Given the description of an element on the screen output the (x, y) to click on. 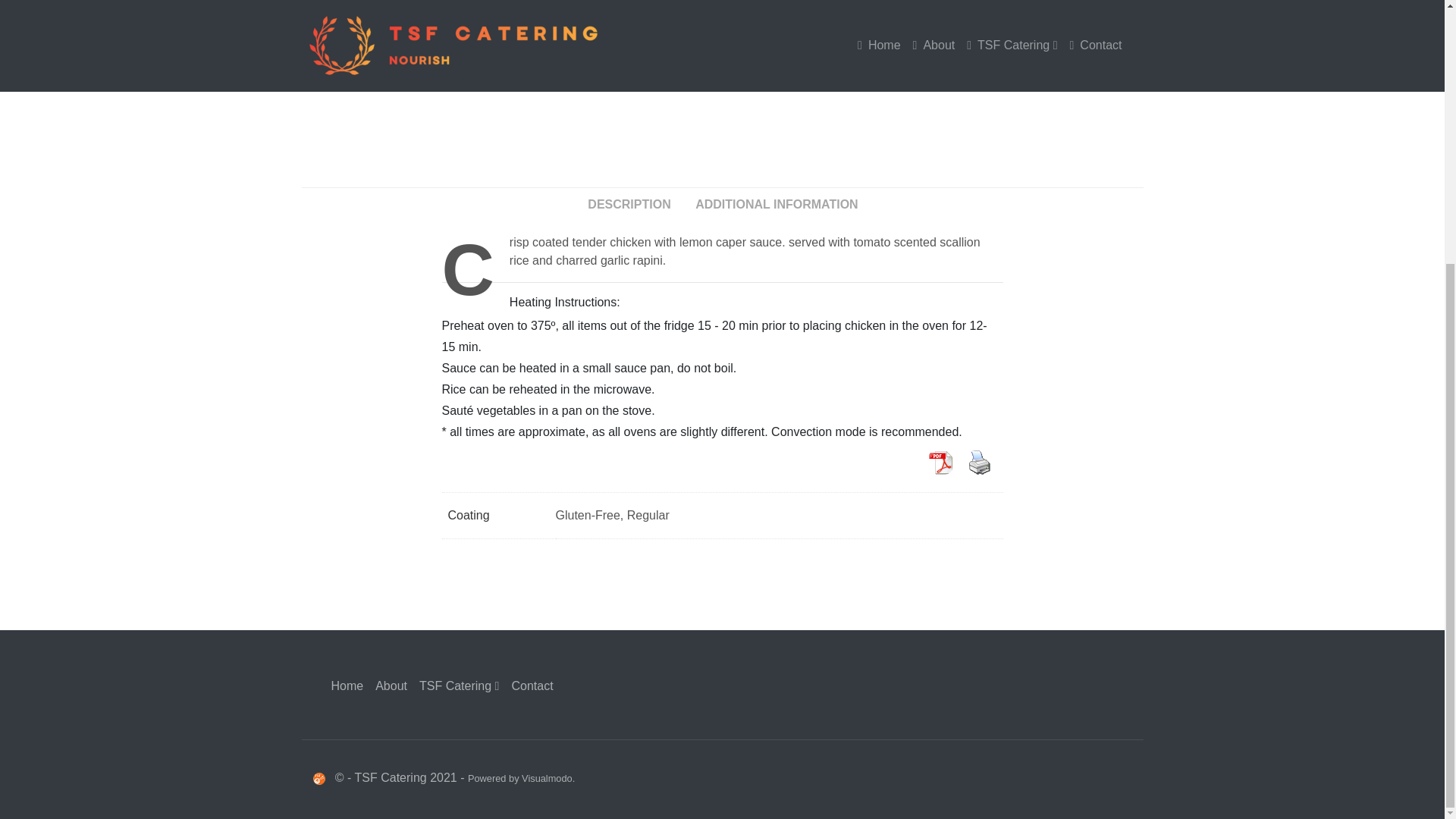
Contact (532, 685)
About (391, 685)
Print Content (978, 462)
Home (346, 685)
TSF Catering (459, 685)
ADDITIONAL INFORMATION (777, 204)
View PDF (939, 462)
Poultry (869, 33)
About (391, 685)
Contact (532, 685)
